Given the description of an element on the screen output the (x, y) to click on. 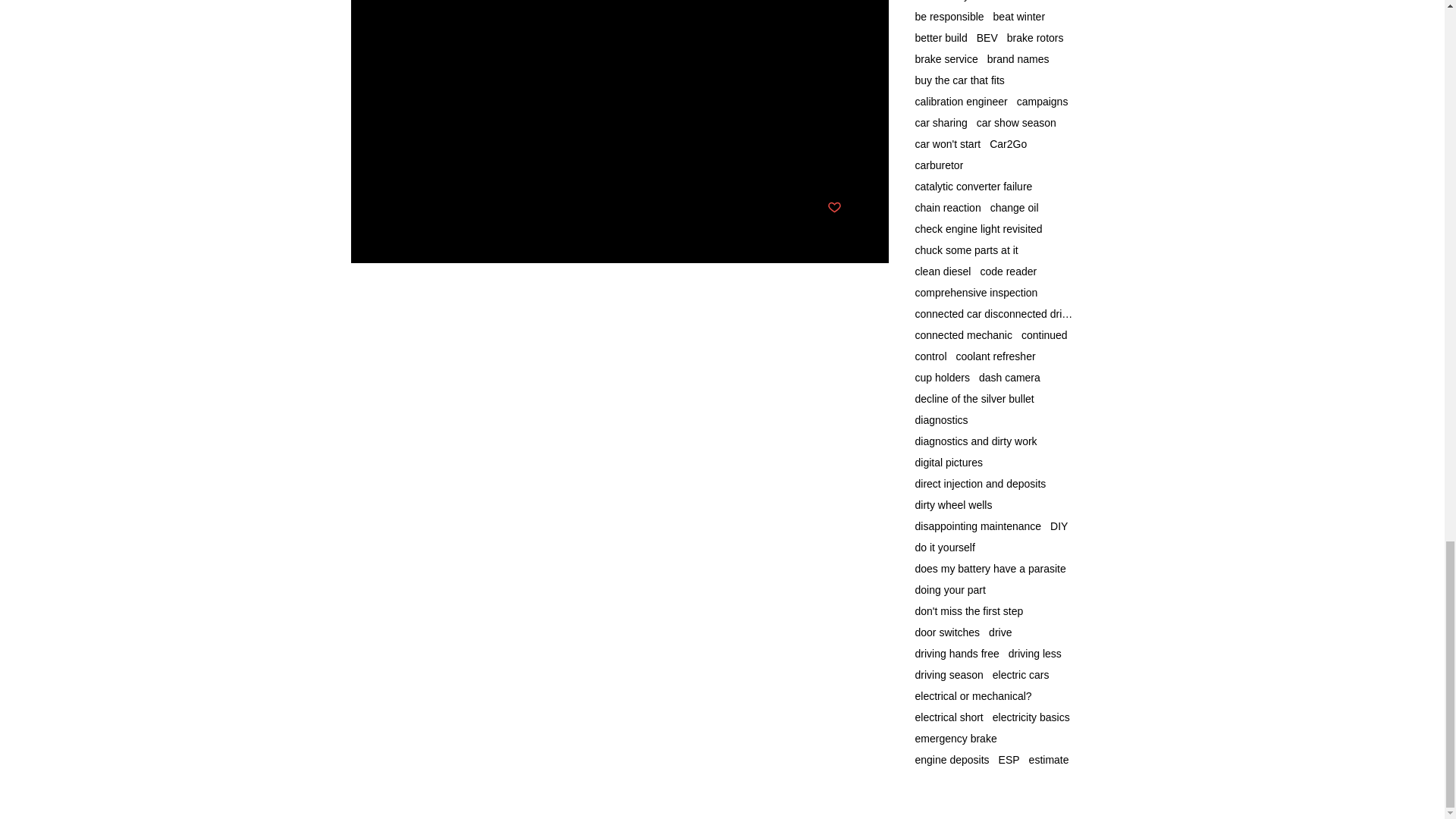
better build (940, 37)
gas or brake (427, 110)
brake service (945, 59)
be nice to your mechanic (973, 0)
BEV (986, 37)
brake rotors (1035, 37)
beat winter (1018, 16)
brand names (1018, 59)
be responsible (949, 16)
Post not marked as liked (834, 207)
